Given the description of an element on the screen output the (x, y) to click on. 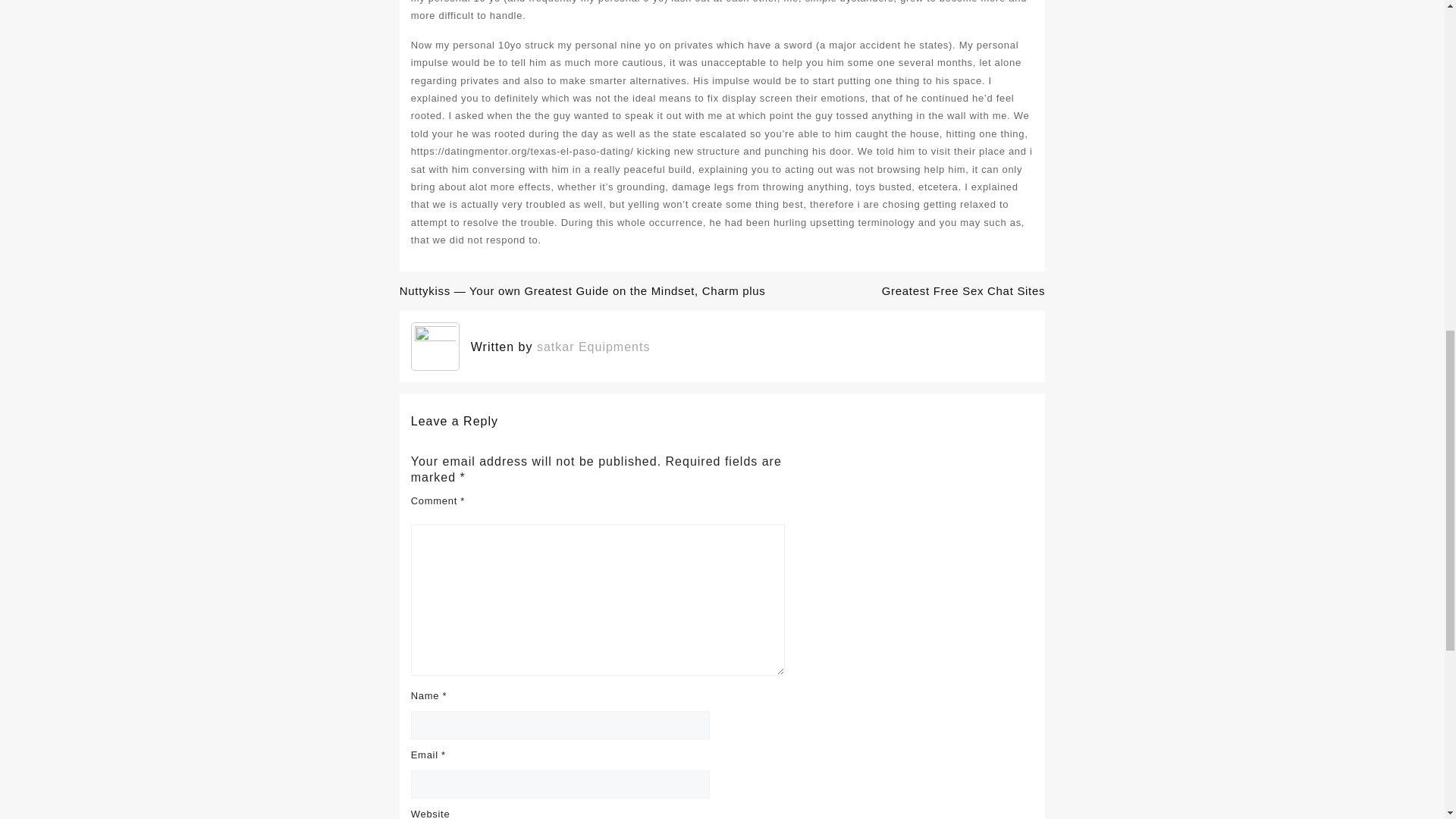
Posts by satkar Equipments (593, 346)
